Given the description of an element on the screen output the (x, y) to click on. 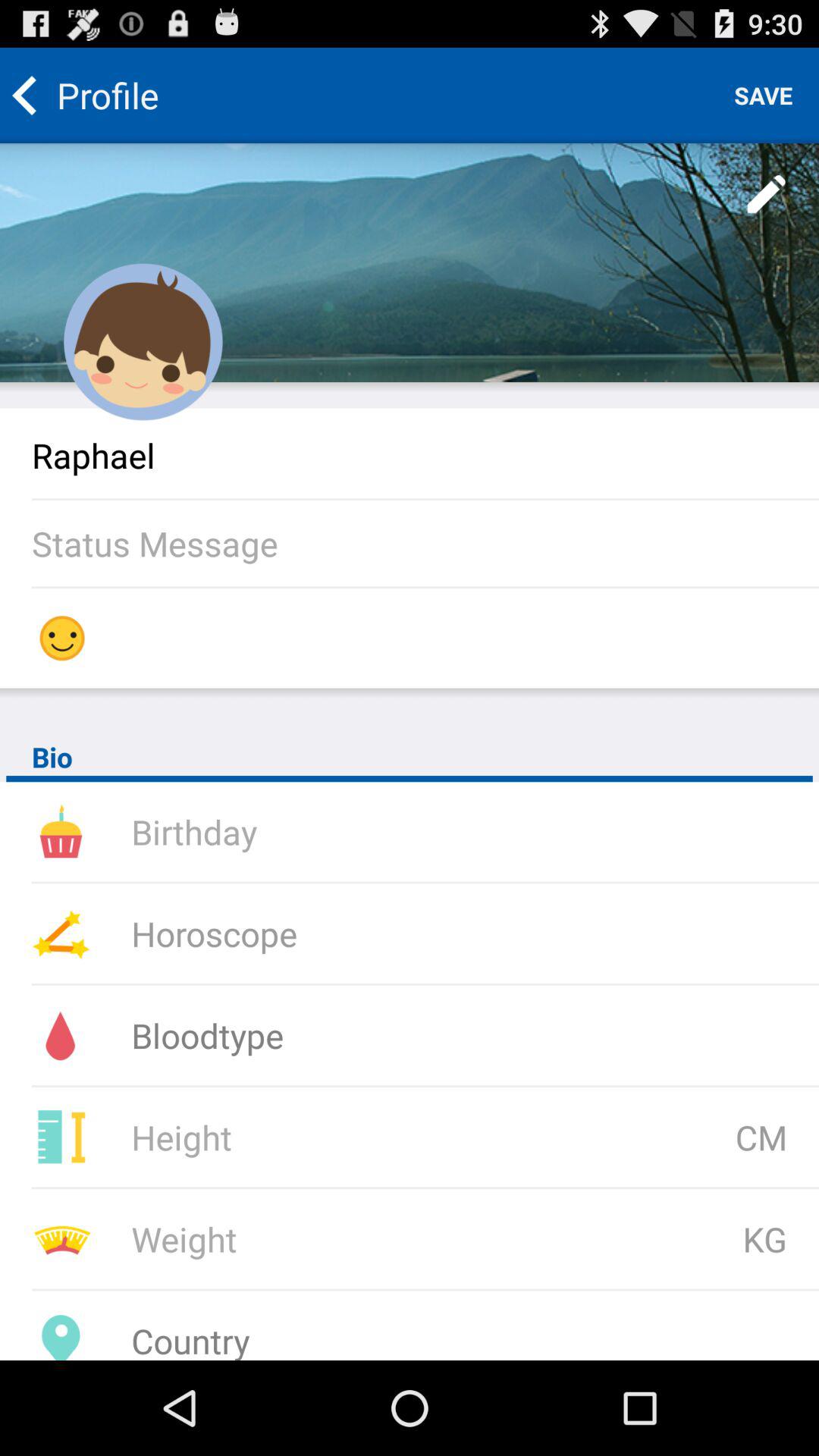
set your status message (425, 543)
